Given the description of an element on the screen output the (x, y) to click on. 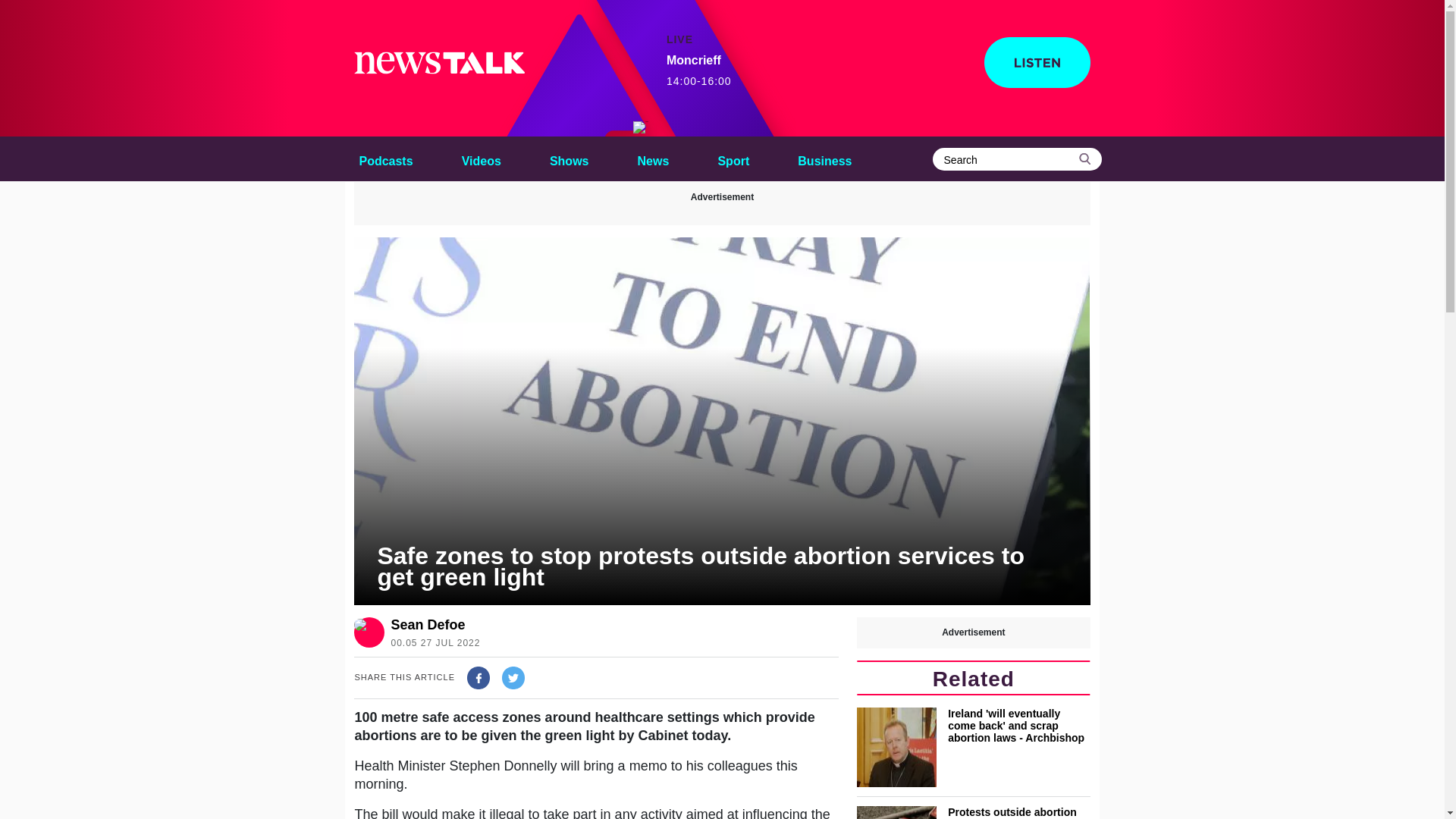
Videos (481, 158)
Videos (481, 158)
Sport (733, 158)
Business (824, 158)
Sport (733, 158)
Business (824, 158)
Sean Defoe (432, 624)
Shows (699, 70)
Podcasts (569, 158)
